Given the description of an element on the screen output the (x, y) to click on. 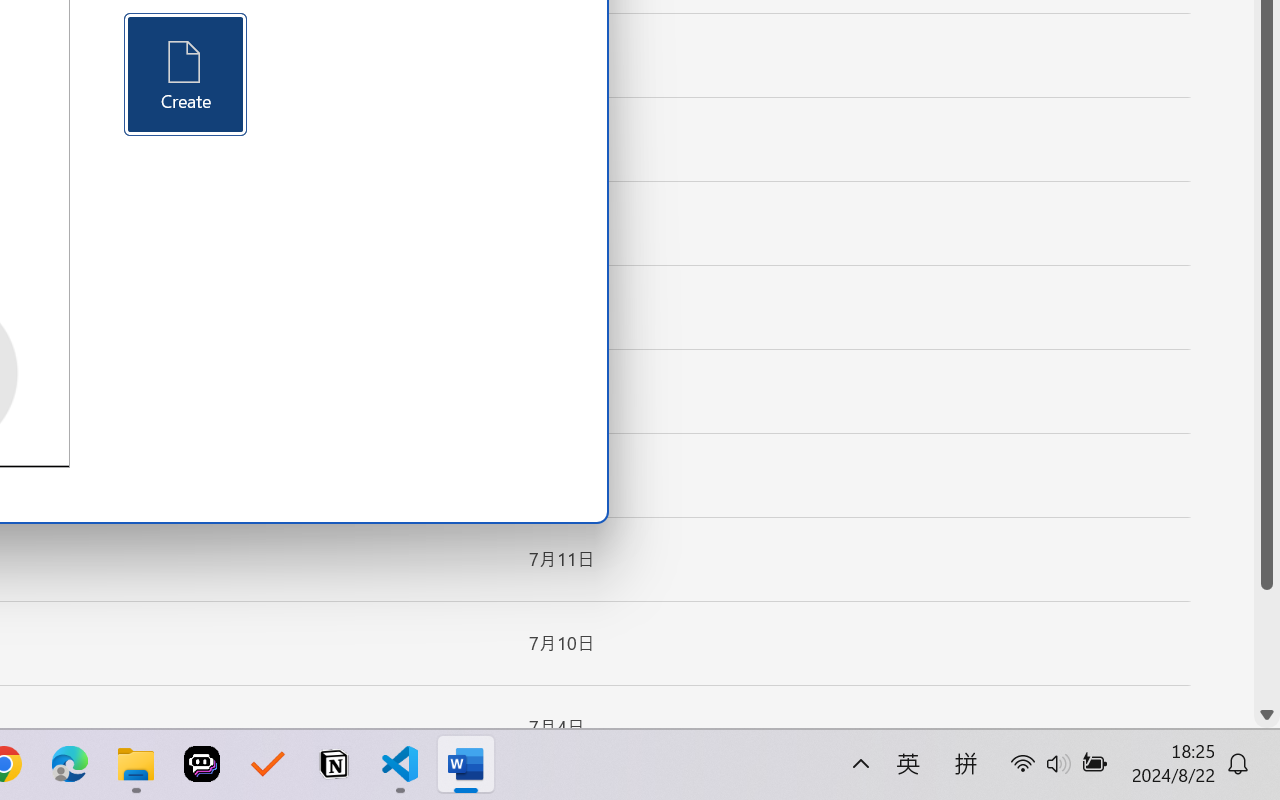
Microsoft Edge (69, 764)
Page down (1267, 646)
Line down (1267, 715)
Pin this item to the list (480, 727)
